Given the description of an element on the screen output the (x, y) to click on. 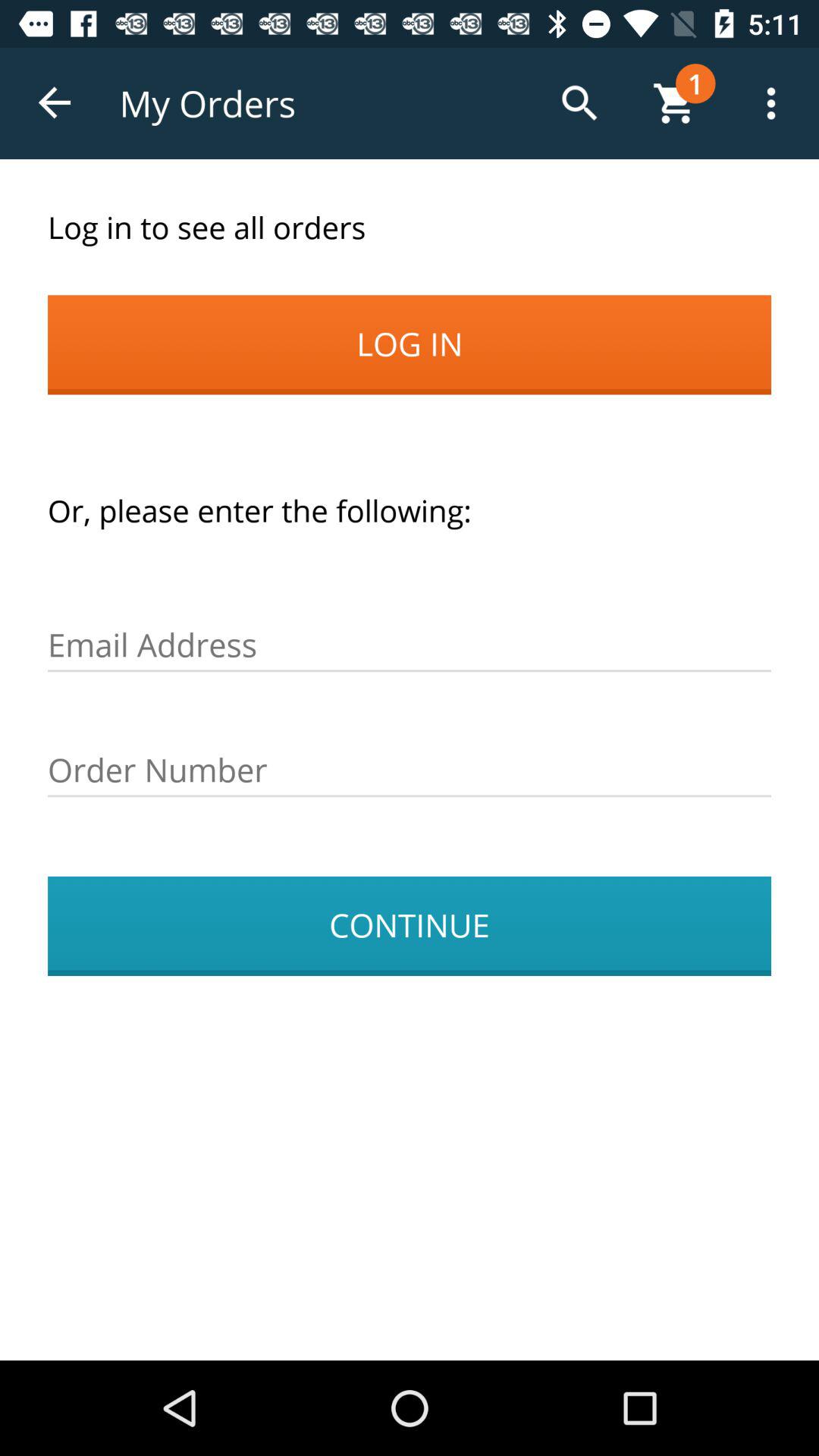
click the item to the left of my orders app (55, 103)
